Given the description of an element on the screen output the (x, y) to click on. 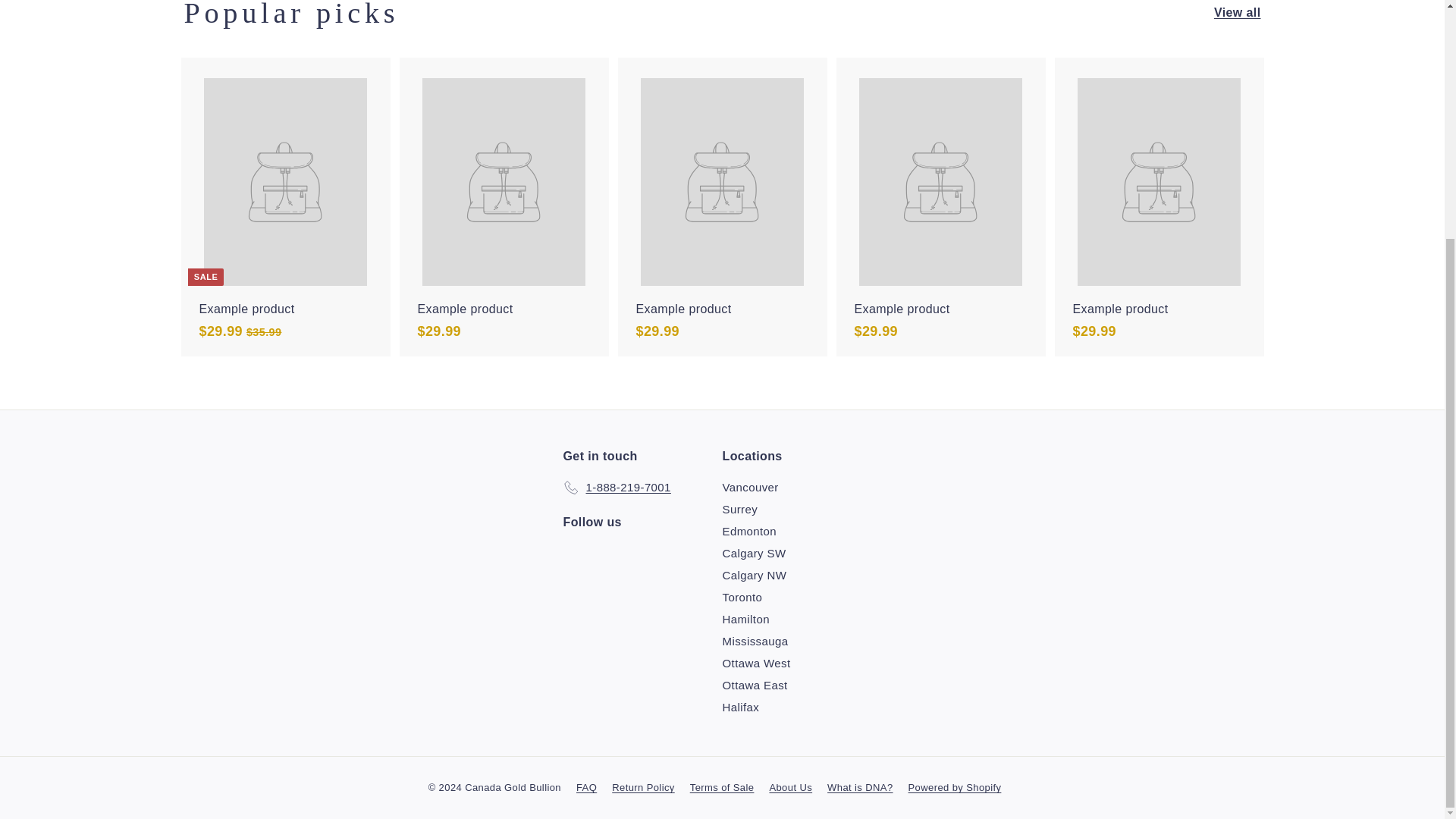
Surrey (739, 508)
Calgary SW (754, 553)
1-888-219-7001 (615, 486)
Return Policy (650, 787)
About Us (797, 787)
Vancouver (749, 486)
Mississauga (754, 640)
View all (1237, 12)
What is DNA? (867, 787)
Halifax (740, 707)
